Given the description of an element on the screen output the (x, y) to click on. 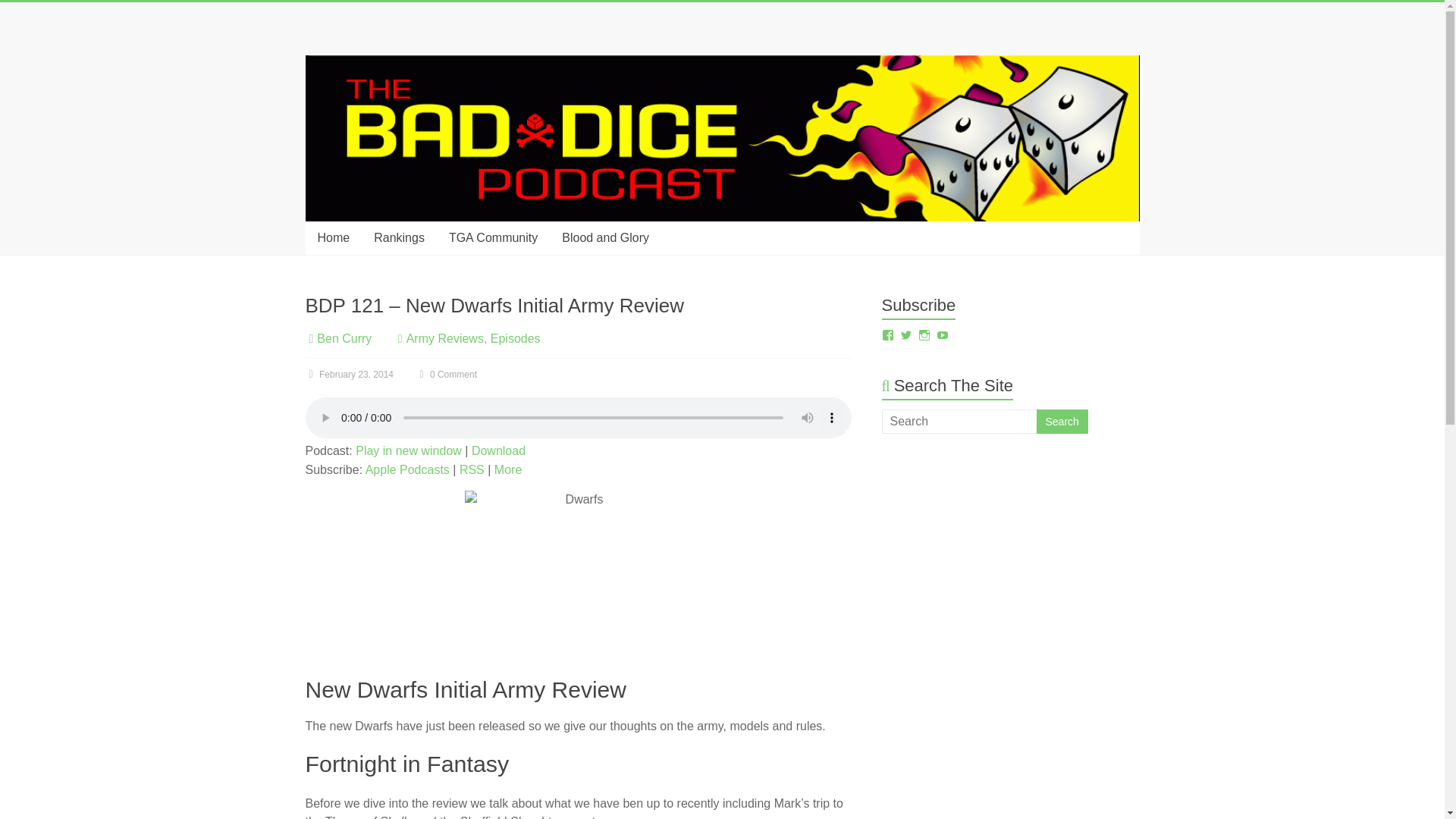
Subscribe via RSS (472, 469)
RSS (472, 469)
Episodes (515, 338)
More (508, 469)
Play in new window (408, 450)
0 Comment (445, 374)
Apple Podcasts (407, 469)
Search (1061, 421)
February 23, 2014 (348, 374)
TGA Community (493, 237)
